Given the description of an element on the screen output the (x, y) to click on. 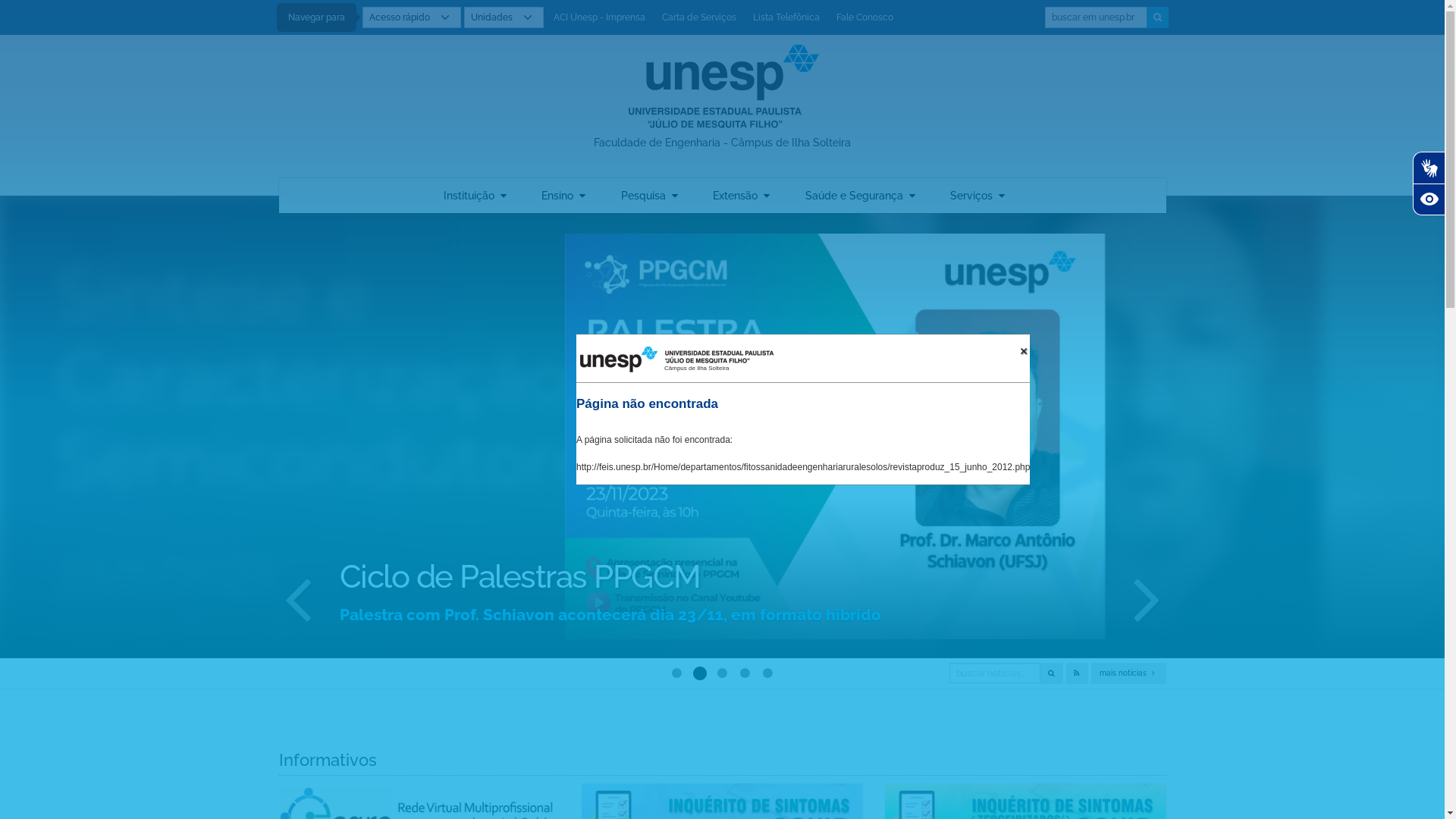
Fale Conosco Element type: text (864, 17)
Buscar em unesp.br Element type: hover (1095, 17)
Pesquisa Element type: text (649, 195)
Ir para o item anterior Element type: text (297, 597)
Buscar Element type: text (1157, 17)
Ensino Element type: text (563, 195)
Fechar Element type: hover (1023, 351)
ACI Unesp - Imprensa Element type: text (598, 17)
Feed de RSS Element type: text (1077, 673)
